Given the description of an element on the screen output the (x, y) to click on. 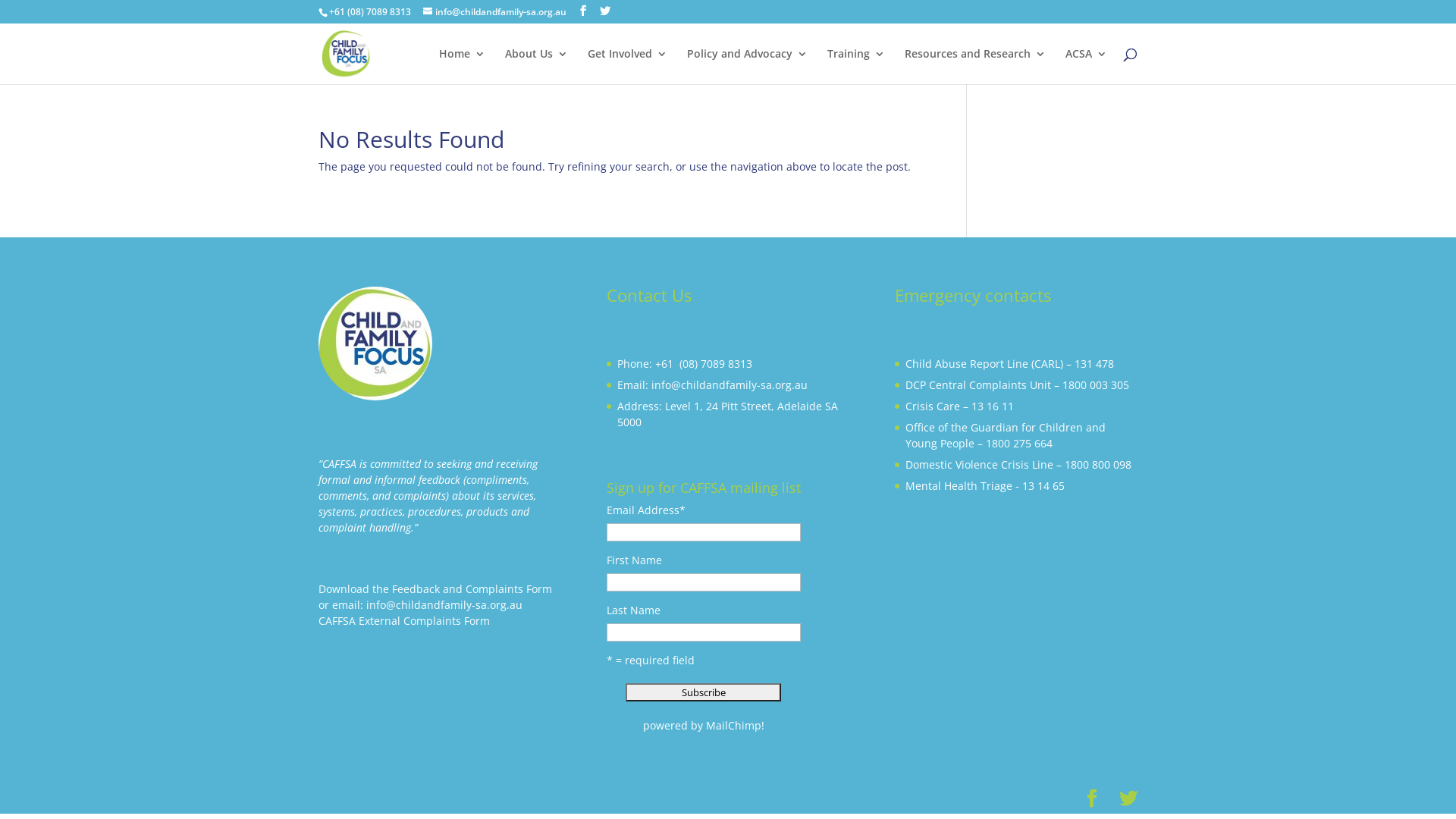
Policy and Advocacy Element type: text (747, 66)
1800 275 664 Element type: text (1018, 443)
ACSA Element type: text (1086, 66)
CAFFSA External Complaints Form Element type: text (403, 620)
1800 800 098 Element type: text (1097, 464)
131 478 Element type: text (1093, 363)
info@childandfamily-sa.org.au Element type: text (444, 604)
Training Element type: text (855, 66)
Subscribe Element type: text (703, 692)
Home Element type: text (462, 66)
Resources and Research Element type: text (974, 66)
info@childandfamily-sa.org.au Element type: text (729, 384)
(08) 7089 8313  Element type: text (717, 363)
Get Involved Element type: text (627, 66)
1800 003 305 Element type: text (1095, 384)
13 14 65 Element type: text (1043, 485)
About Us Element type: text (536, 66)
13 16 11 Element type: text (992, 405)
MailChimp Element type: text (733, 725)
info@childandfamily-sa.org.au Element type: text (494, 11)
